Given the description of an element on the screen output the (x, y) to click on. 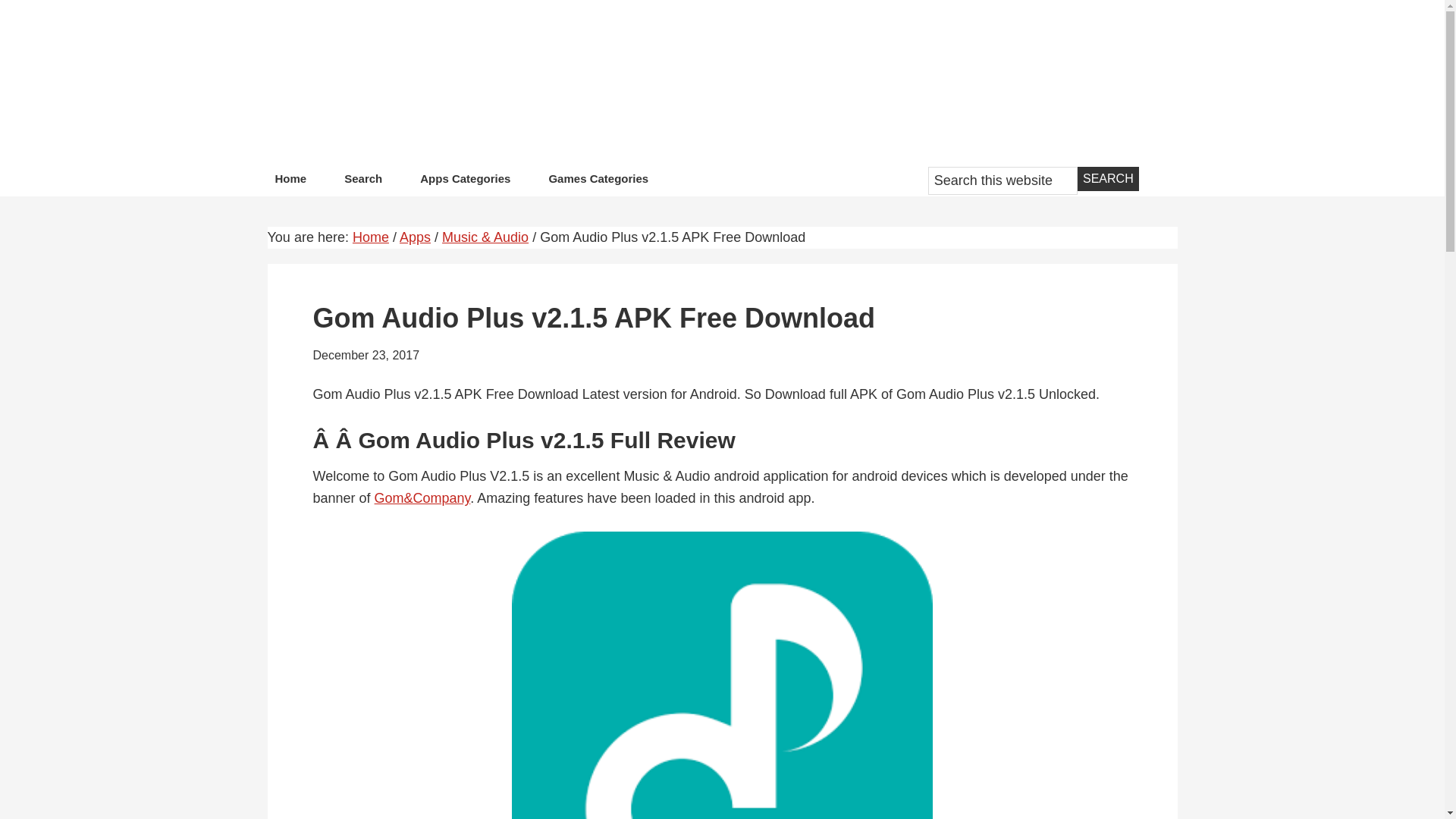
Search (363, 181)
Apps (414, 236)
Home (290, 181)
Search (1107, 178)
Search (1107, 178)
Home (370, 236)
Apps Categories (465, 181)
Search (1107, 178)
Games Categories (598, 181)
Gom Audio Plus v2.1.5 APK Free Download (722, 675)
